Given the description of an element on the screen output the (x, y) to click on. 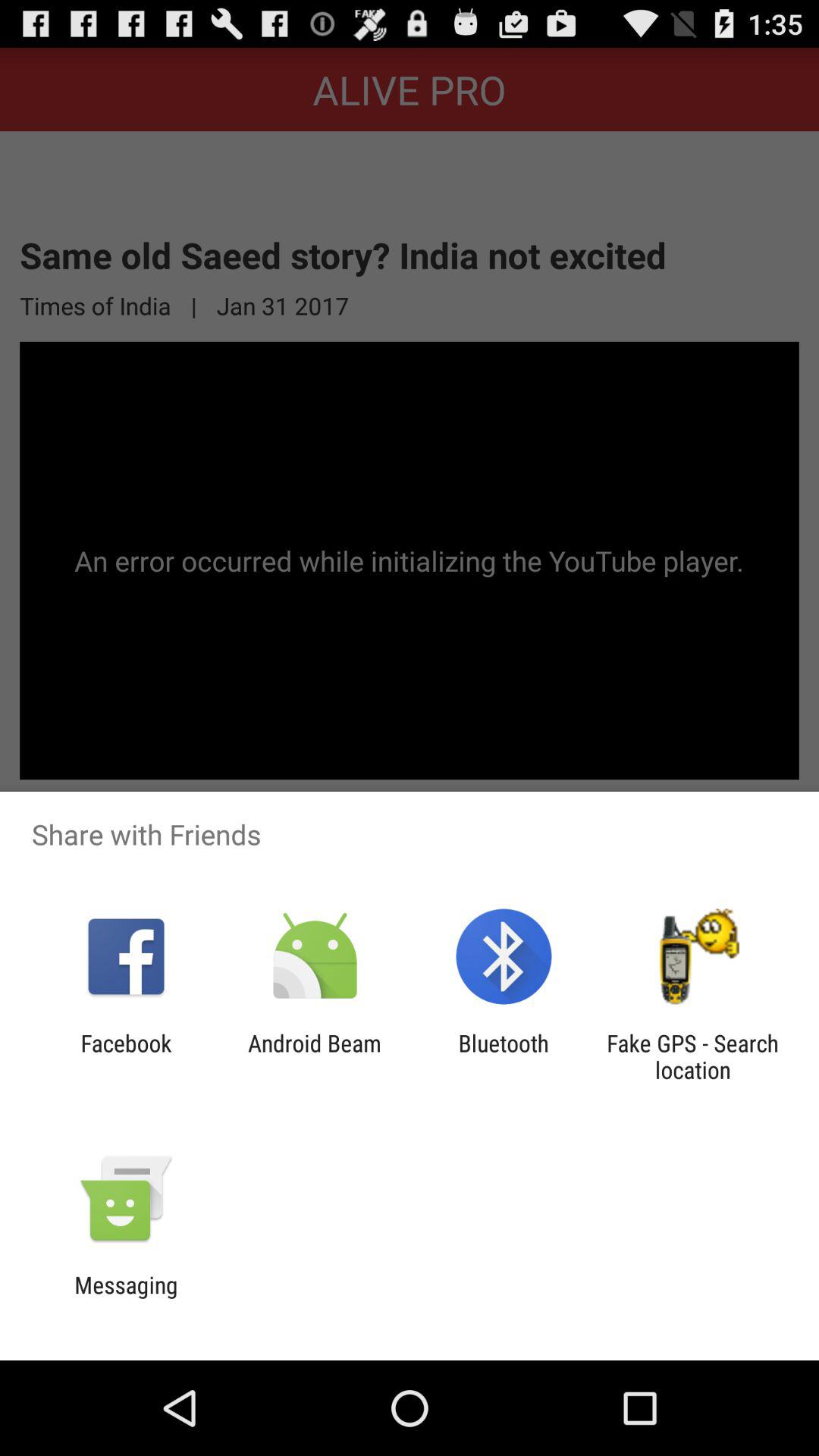
choose facebook item (125, 1056)
